Given the description of an element on the screen output the (x, y) to click on. 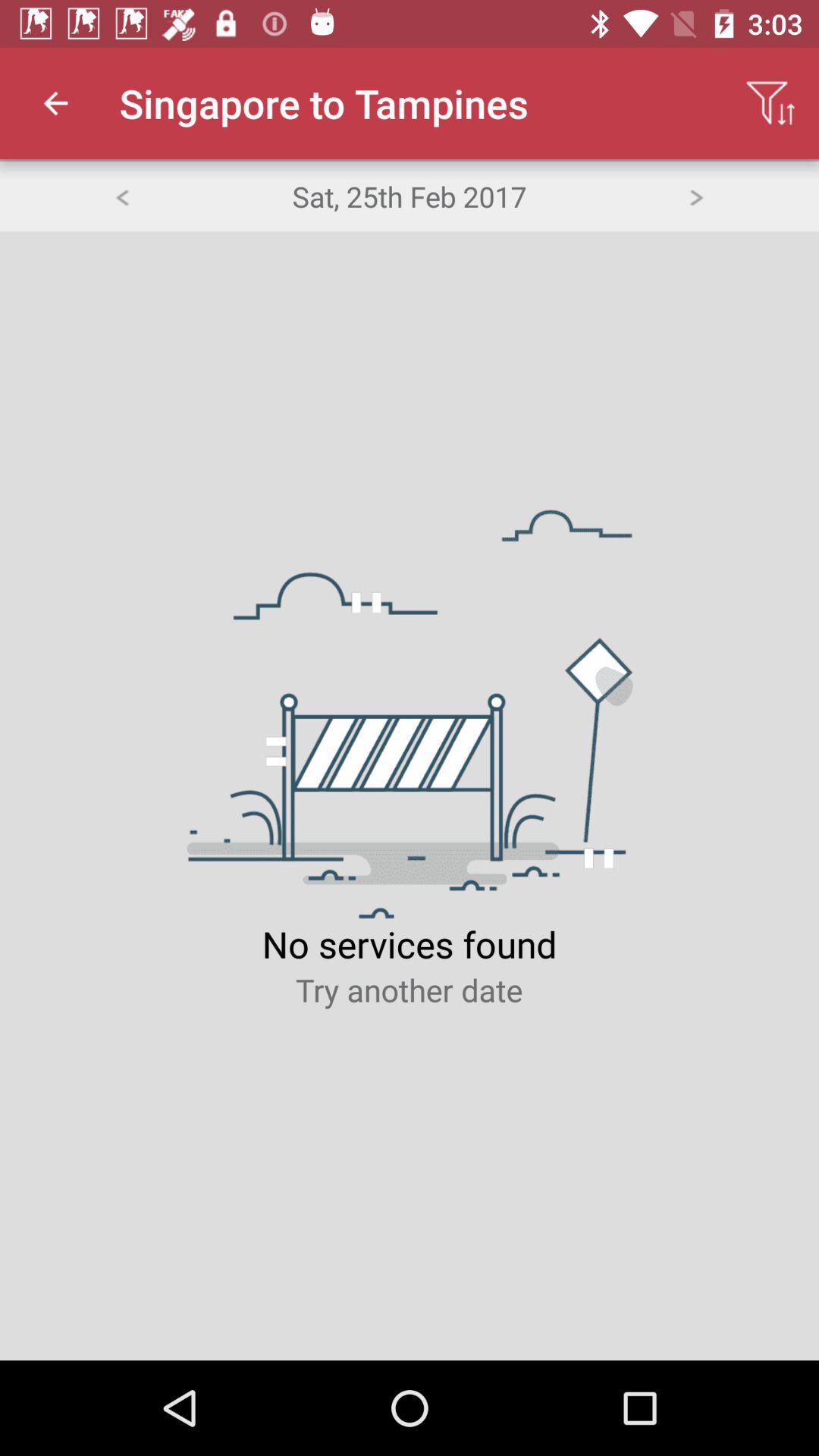
launch icon to the left of the singapore to tampines app (55, 103)
